Given the description of an element on the screen output the (x, y) to click on. 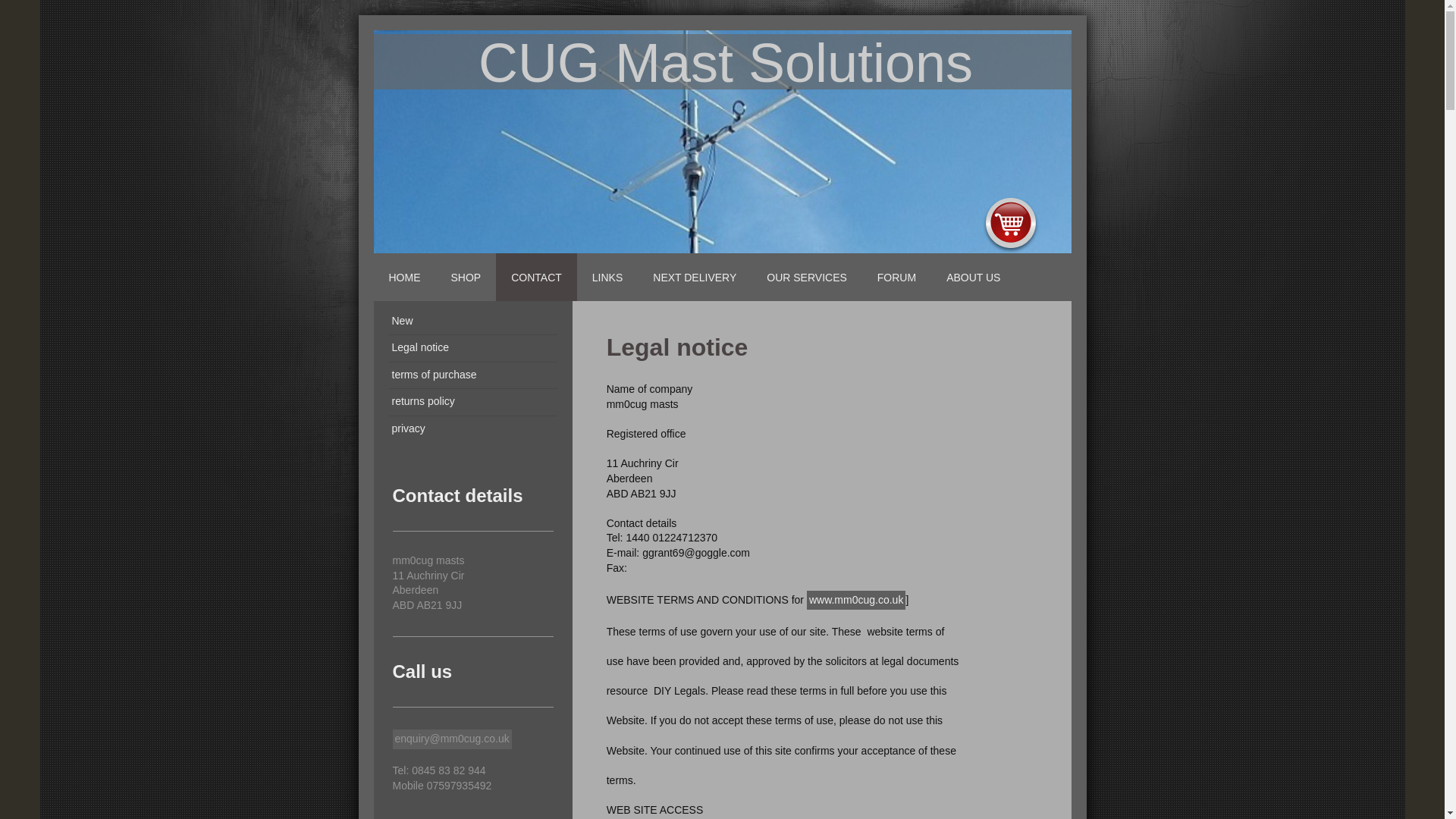
www.mm0cug.co.uk (855, 600)
CONTACT (536, 277)
LINKS (606, 277)
FORUM (896, 277)
NEXT DELIVERY (694, 277)
HOME (403, 277)
ABOUT US (972, 277)
SHOP (465, 277)
OUR SERVICES (806, 277)
